Given the description of an element on the screen output the (x, y) to click on. 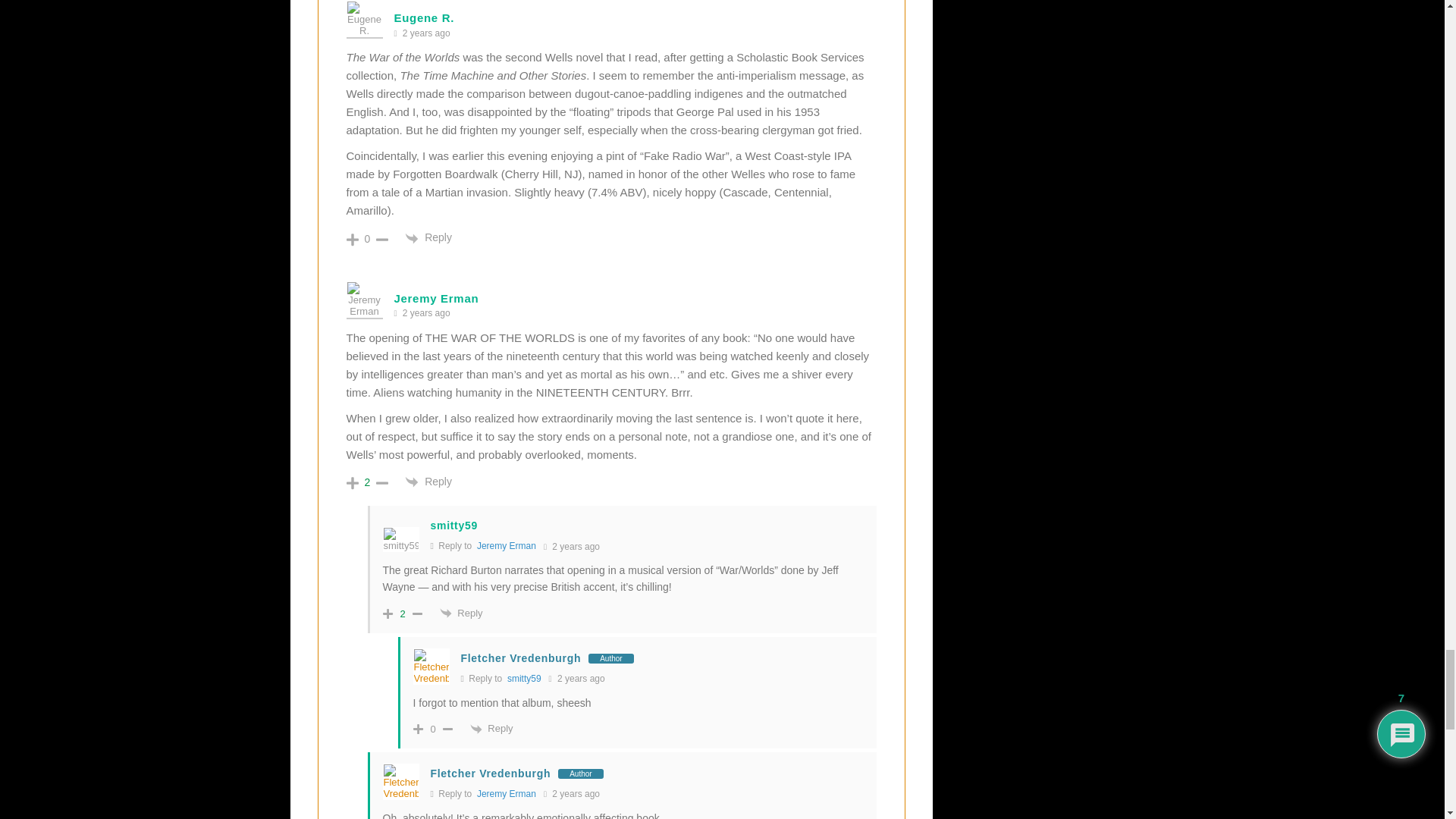
Saturday, April 9, 2022 9:03 pm (426, 33)
Fletcher Vredenburgh (520, 657)
Jeremy Erman (506, 793)
0 (366, 238)
Fletcher Vredenburgh (490, 773)
smitty59 (523, 678)
Jeremy Erman (506, 545)
